Given the description of an element on the screen output the (x, y) to click on. 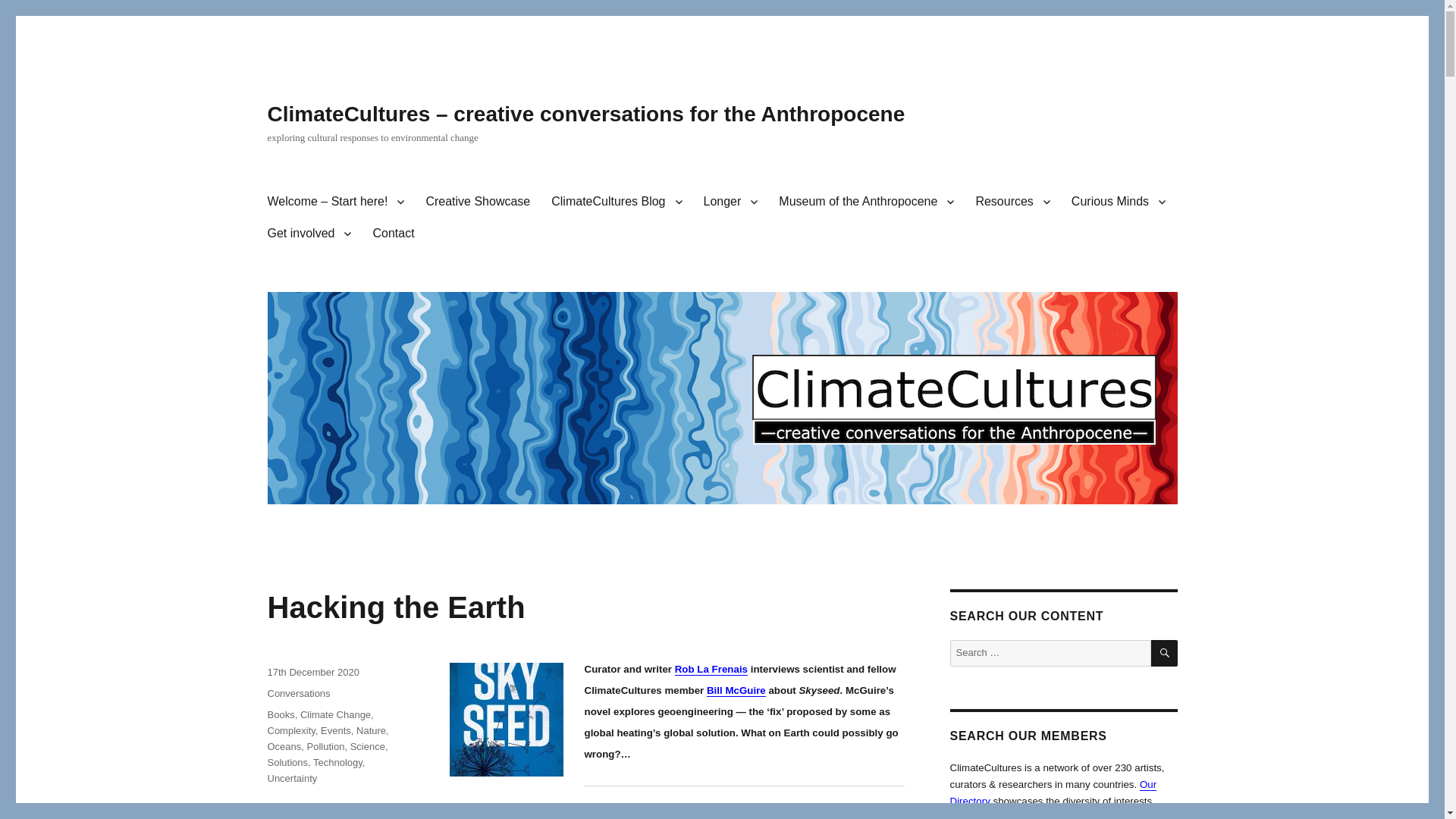
Longer (730, 201)
Creative Showcase (477, 201)
ClimateCultures Blog (616, 201)
Curious Minds (1118, 201)
Resources (1011, 201)
Museum of the Anthropocene (865, 201)
